Given the description of an element on the screen output the (x, y) to click on. 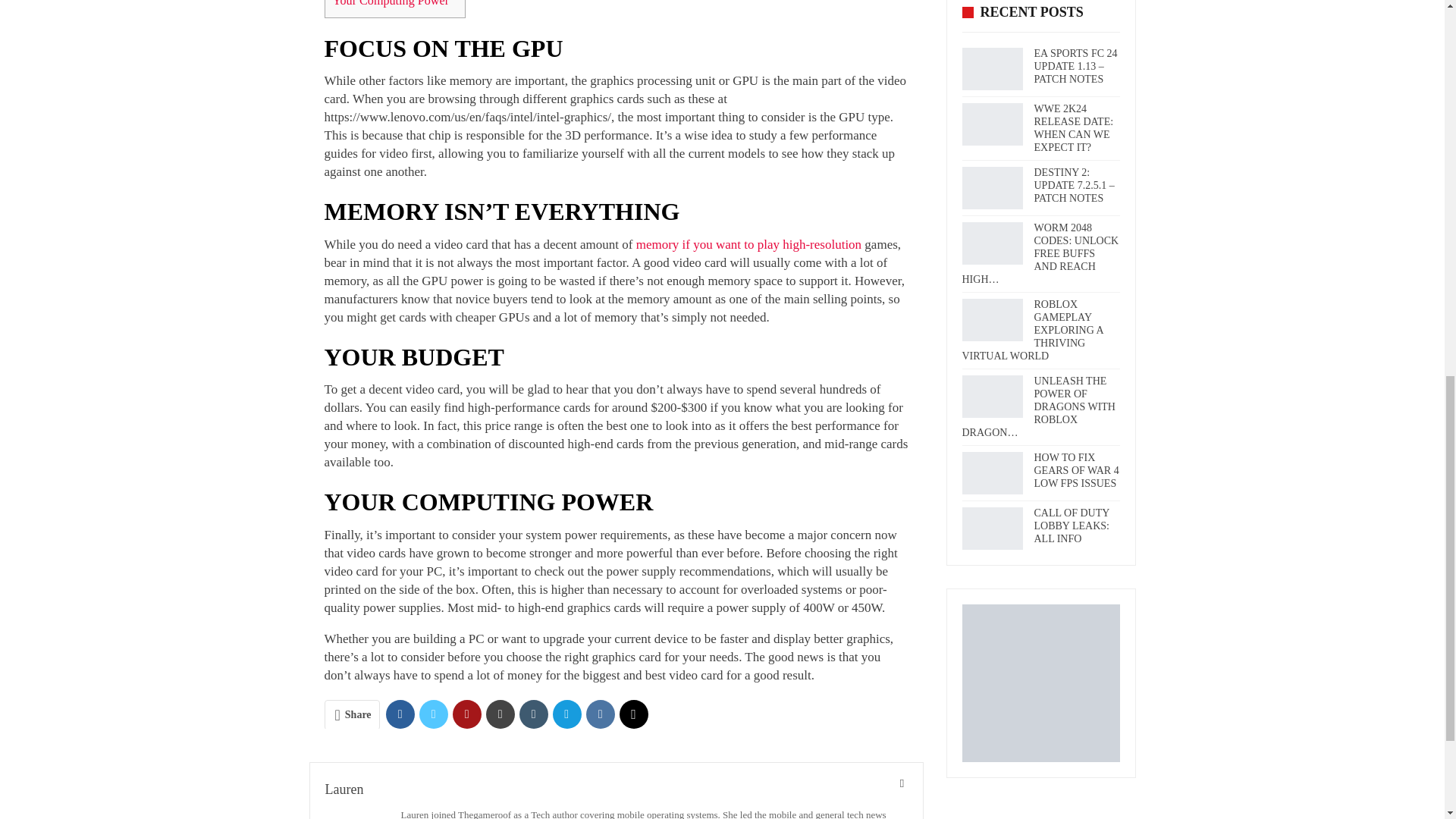
Lauren (343, 789)
memory if you want to play high-resolution (748, 244)
Roblox Gameplay Exploring a Thriving Virtual World (991, 319)
Your Computing Power (389, 3)
Worm 2048 Codes: Unlock Free Buffs and Reach High Scores! (991, 242)
WWE 2K24 Release Date: When Can We Expect It? (991, 124)
How to Fix Gears of War 4 Low FPS Issues (991, 473)
Call of Duty Lobby Leaks: All Info (991, 527)
